Given the description of an element on the screen output the (x, y) to click on. 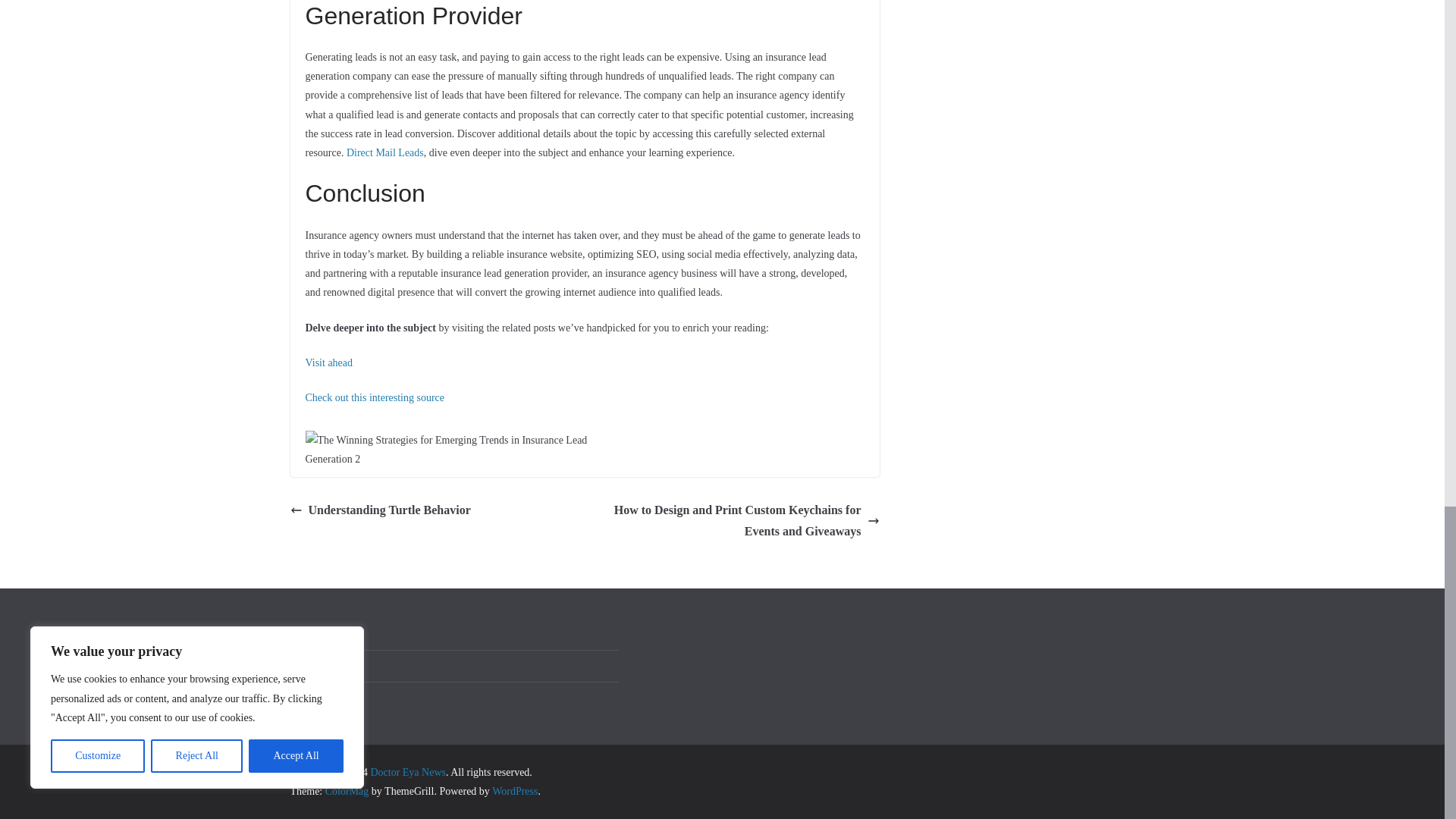
Visit ahead (328, 362)
WordPress (514, 790)
ColorMag (346, 790)
Doctor Eya News (407, 772)
Understanding Turtle Behavior (379, 510)
Direct Mail Leads (384, 152)
Check out this interesting source (374, 397)
